Given the description of an element on the screen output the (x, y) to click on. 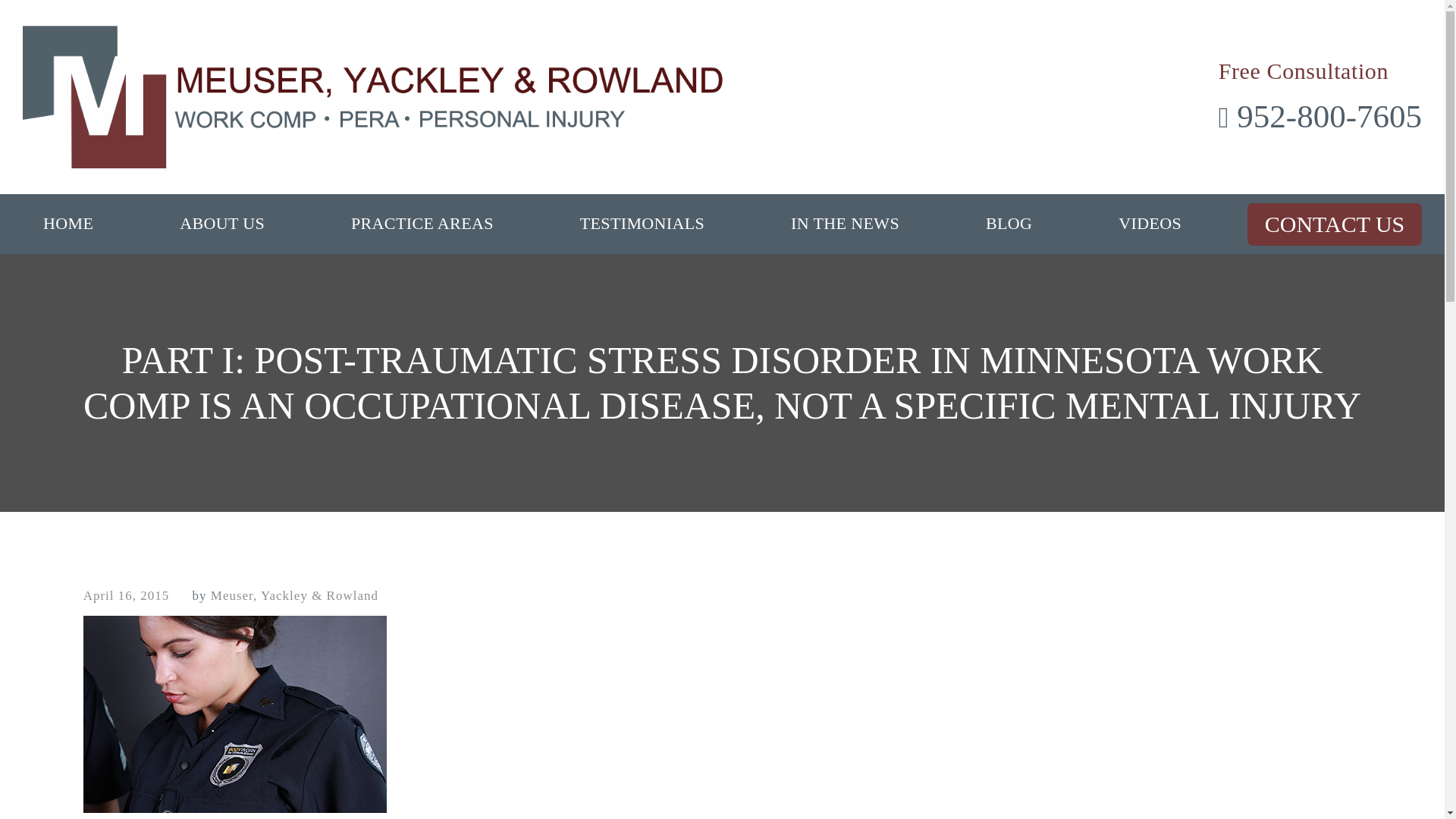
IN THE NEWS (845, 223)
PRACTICE AREAS (422, 223)
HOME (68, 223)
April 16, 2015 (126, 596)
ABOUT US (221, 223)
952-800-7605 (1320, 116)
BLOG (1008, 223)
TESTIMONIALS (642, 223)
VIDEOS (1149, 223)
CONTACT US (1334, 224)
